Given the description of an element on the screen output the (x, y) to click on. 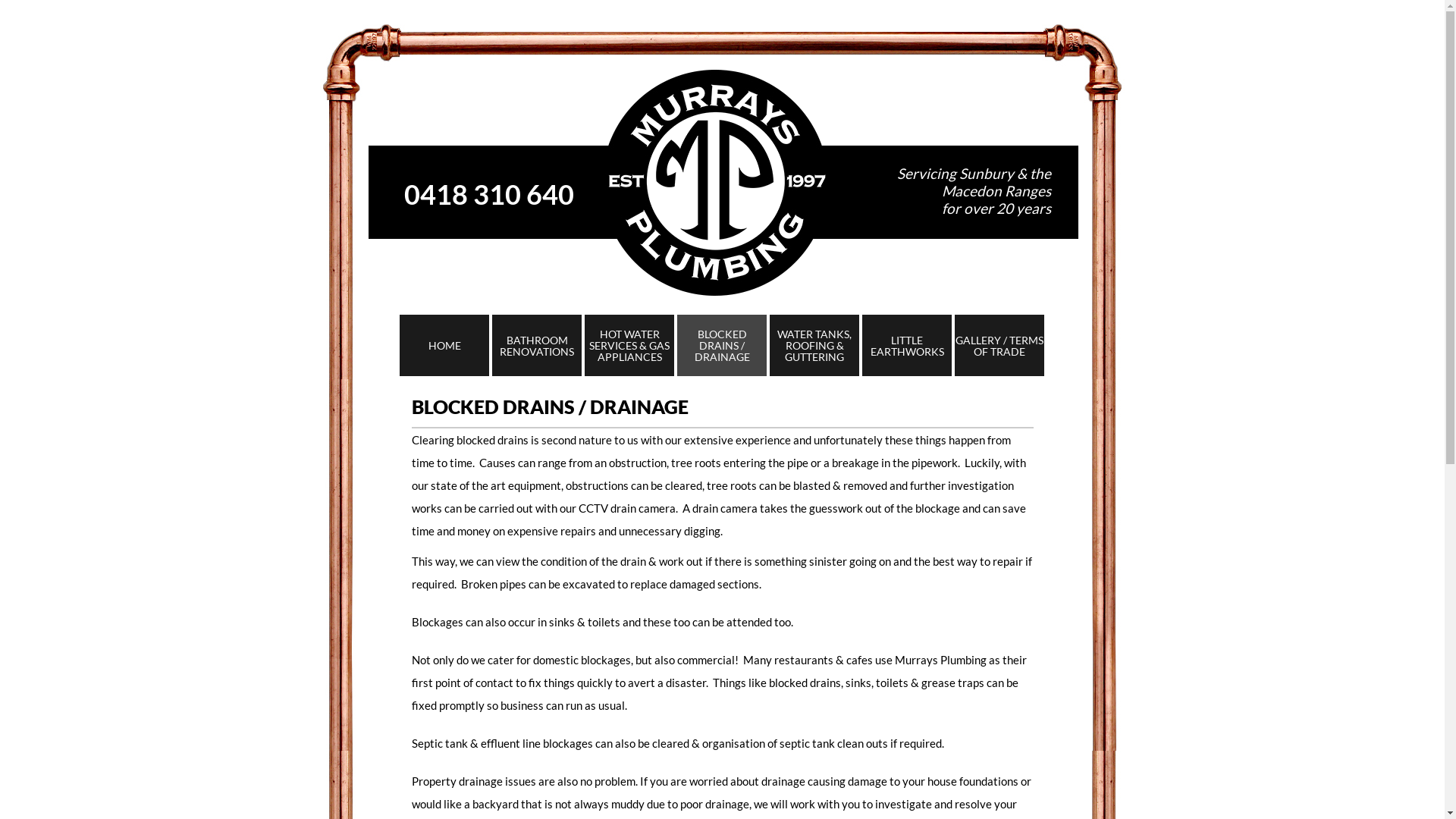
LITTLE EARTHWORKS Element type: text (906, 345)
HOT WATER SERVICES & GAS APPLIANCES Element type: text (629, 345)
0418 310 640 Element type: text (488, 193)
BATHROOM RENOVATIONS Element type: text (536, 345)
Murrays Plumbing Element type: text (722, 155)
WATER TANKS, ROOFING & GUTTERING Element type: text (814, 345)
GALLERY / TERMS OF TRADE Element type: text (999, 345)
BLOCKED DRAINS / DRAINAGE Element type: text (721, 345)
HOME Element type: text (444, 345)
